Given the description of an element on the screen output the (x, y) to click on. 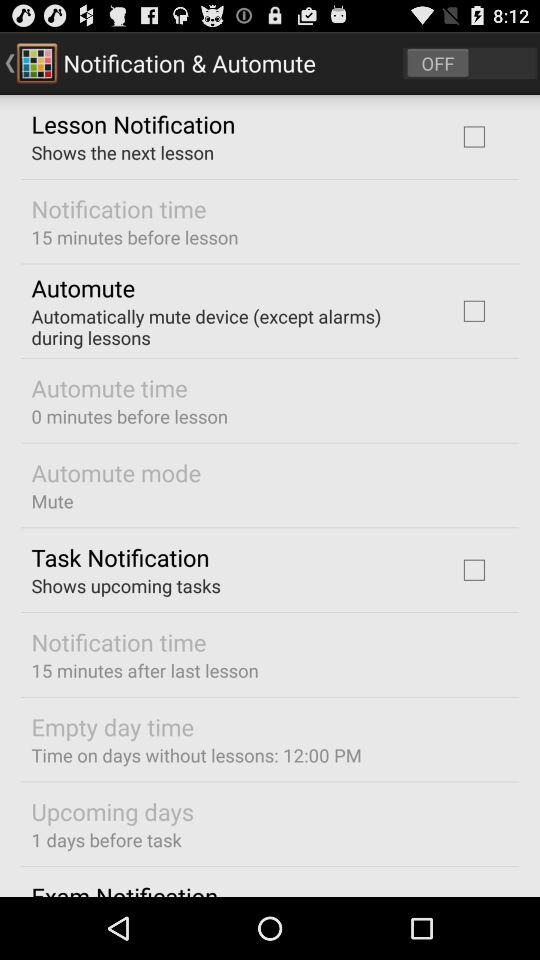
turn on the icon below the upcoming days app (106, 839)
